Given the description of an element on the screen output the (x, y) to click on. 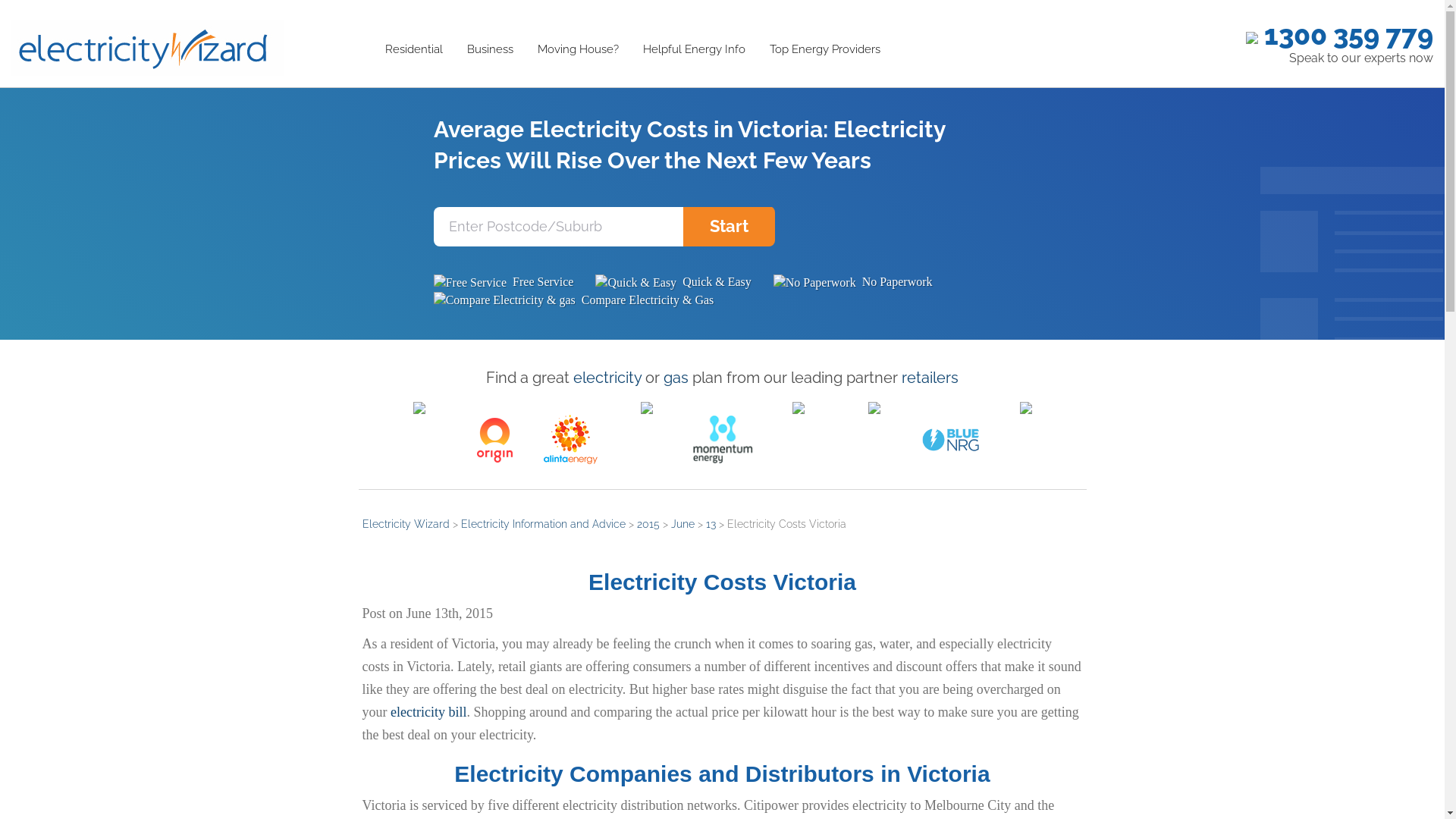
13 Element type: text (710, 523)
2015 Element type: text (648, 523)
Moving House? Element type: text (578, 49)
retailers Element type: text (929, 377)
Electricity Wizard Element type: text (405, 523)
Helpful Energy Info Element type: text (694, 49)
electricity Element type: text (607, 377)
Electricity Information and Advice Element type: text (543, 523)
Top Energy Providers Element type: text (825, 49)
Business Element type: text (489, 49)
Residential Element type: text (413, 49)
1300 359 779 Element type: text (1339, 34)
electricity bill Element type: text (428, 711)
gas Element type: text (675, 377)
June Element type: text (681, 523)
